Given the description of an element on the screen output the (x, y) to click on. 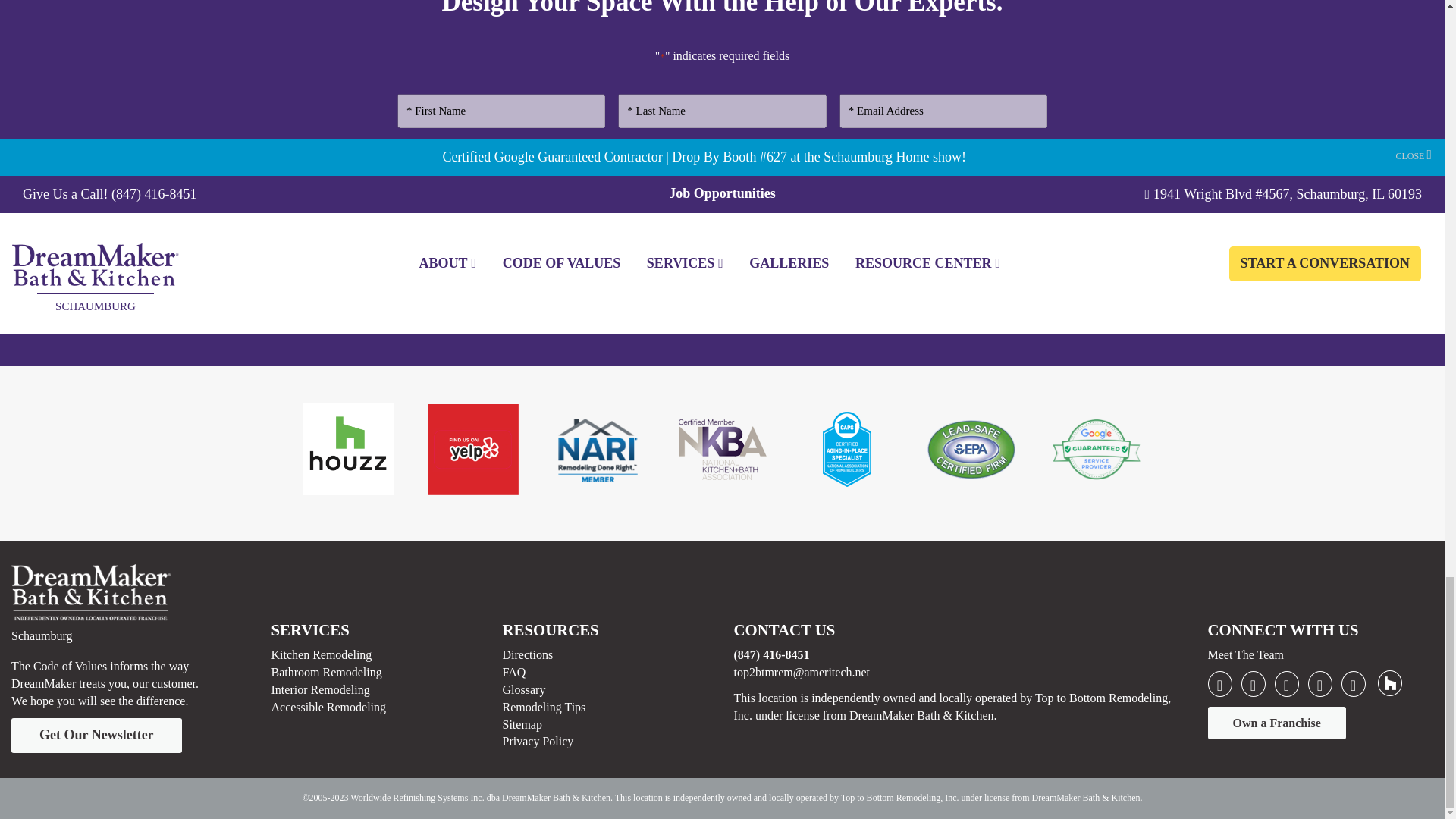
Google Guaranteed Contractor (1096, 448)
Interior Remodeling (829, 236)
Certified Aging-In-Place Specialist (847, 449)
Yelp (473, 449)
youtube (1286, 683)
Houzz (347, 448)
facebook (1219, 683)
instagram (1352, 683)
Lead Safe Certified Firm (971, 449)
Accessible Remodeling (973, 236)
twitter (1252, 683)
Kitchen Remodeling (560, 236)
pinterest (1319, 683)
houzz (1388, 683)
Bathroom Remodeling (701, 236)
